Given the description of an element on the screen output the (x, y) to click on. 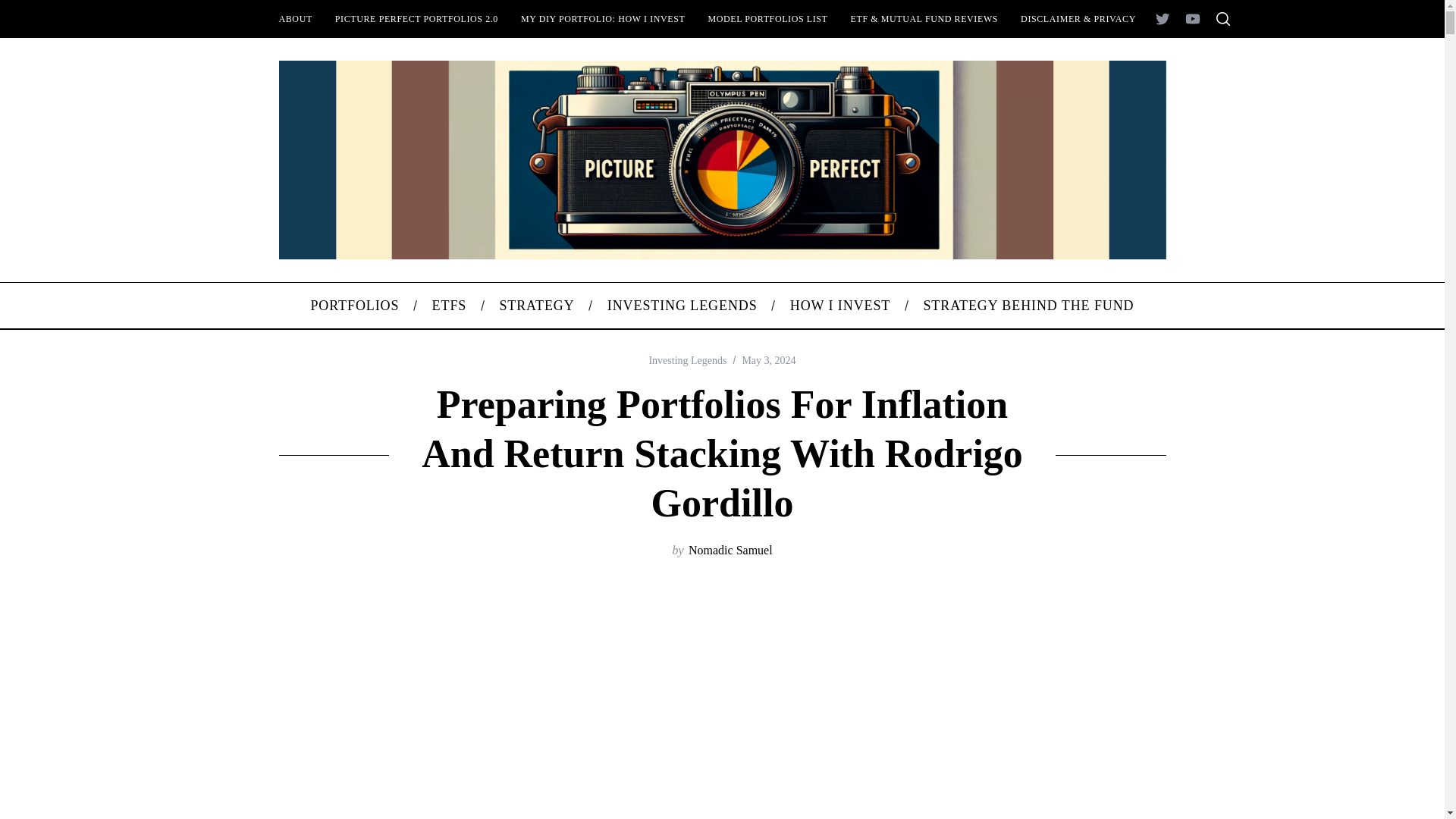
Nomadic Samuel (730, 549)
PICTURE PERFECT PORTFOLIOS 2.0 (416, 18)
ABOUT (294, 18)
PORTFOLIOS (354, 305)
ETFS (448, 305)
Investing Legends (686, 360)
STRATEGY (537, 305)
INVESTING LEGENDS (682, 305)
HOW I INVEST (840, 305)
MODEL PORTFOLIOS LIST (766, 18)
